Given the description of an element on the screen output the (x, y) to click on. 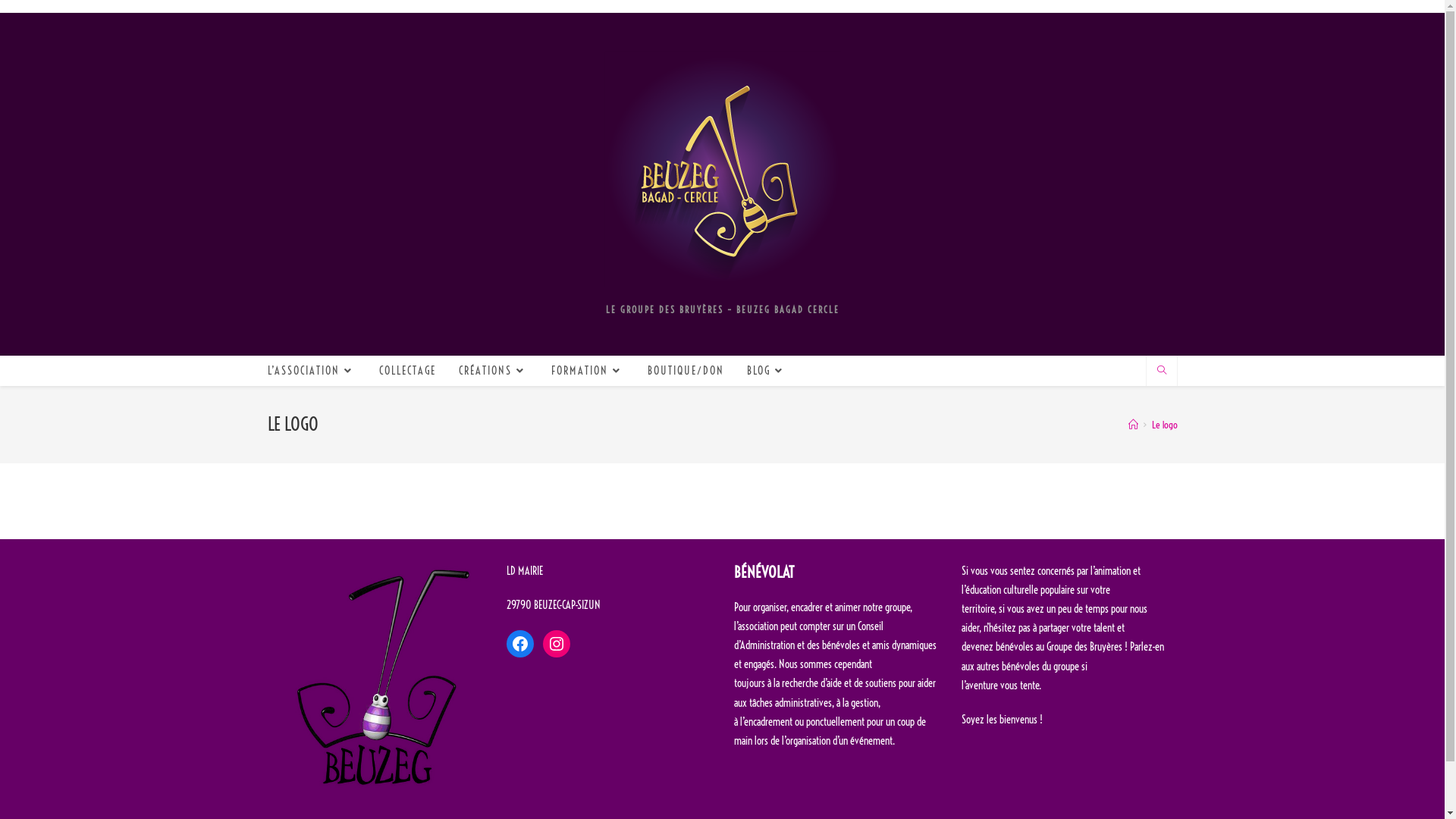
Instagram Element type: text (556, 643)
FORMATION Element type: text (587, 370)
BLOG Element type: text (766, 370)
BOUTIQUE/DON Element type: text (684, 370)
Facebook Element type: text (519, 643)
COLLECTAGE Element type: text (406, 370)
Le logo Element type: text (1163, 424)
